Given the description of an element on the screen output the (x, y) to click on. 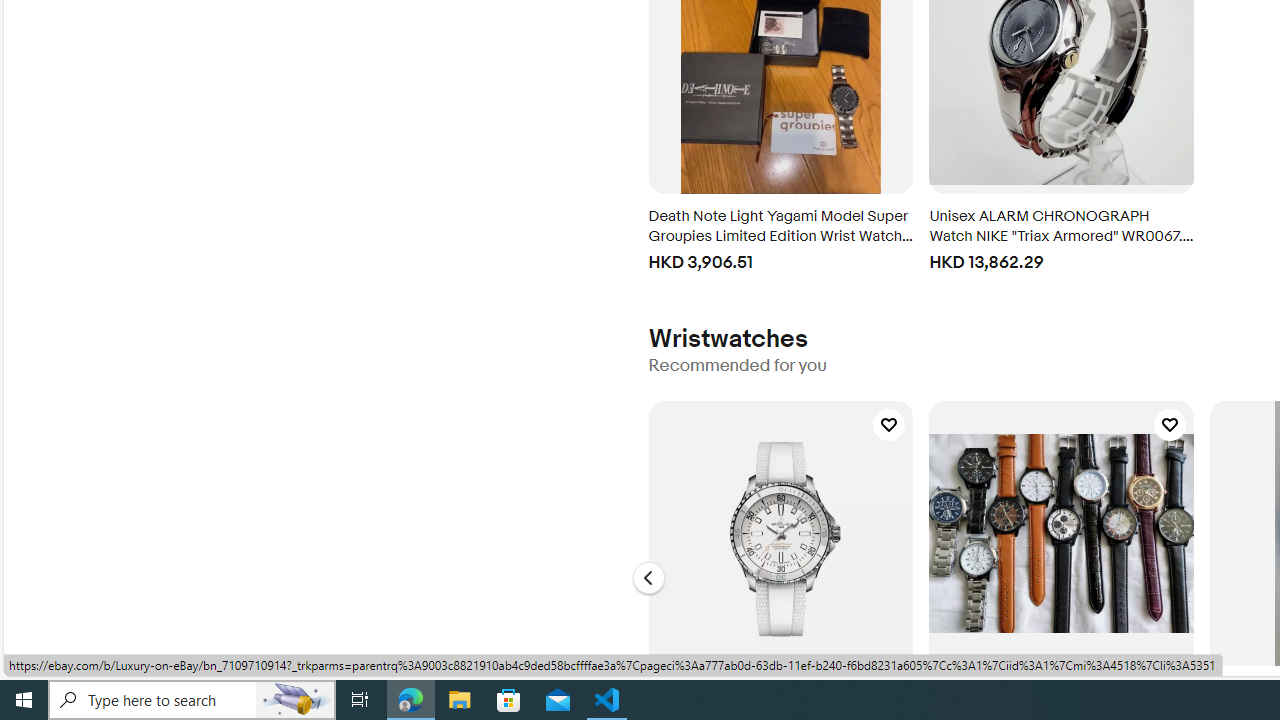
Wristwatches (727, 338)
Go to the previous slide, Wristwatches - Carousel (648, 578)
